Given the description of an element on the screen output the (x, y) to click on. 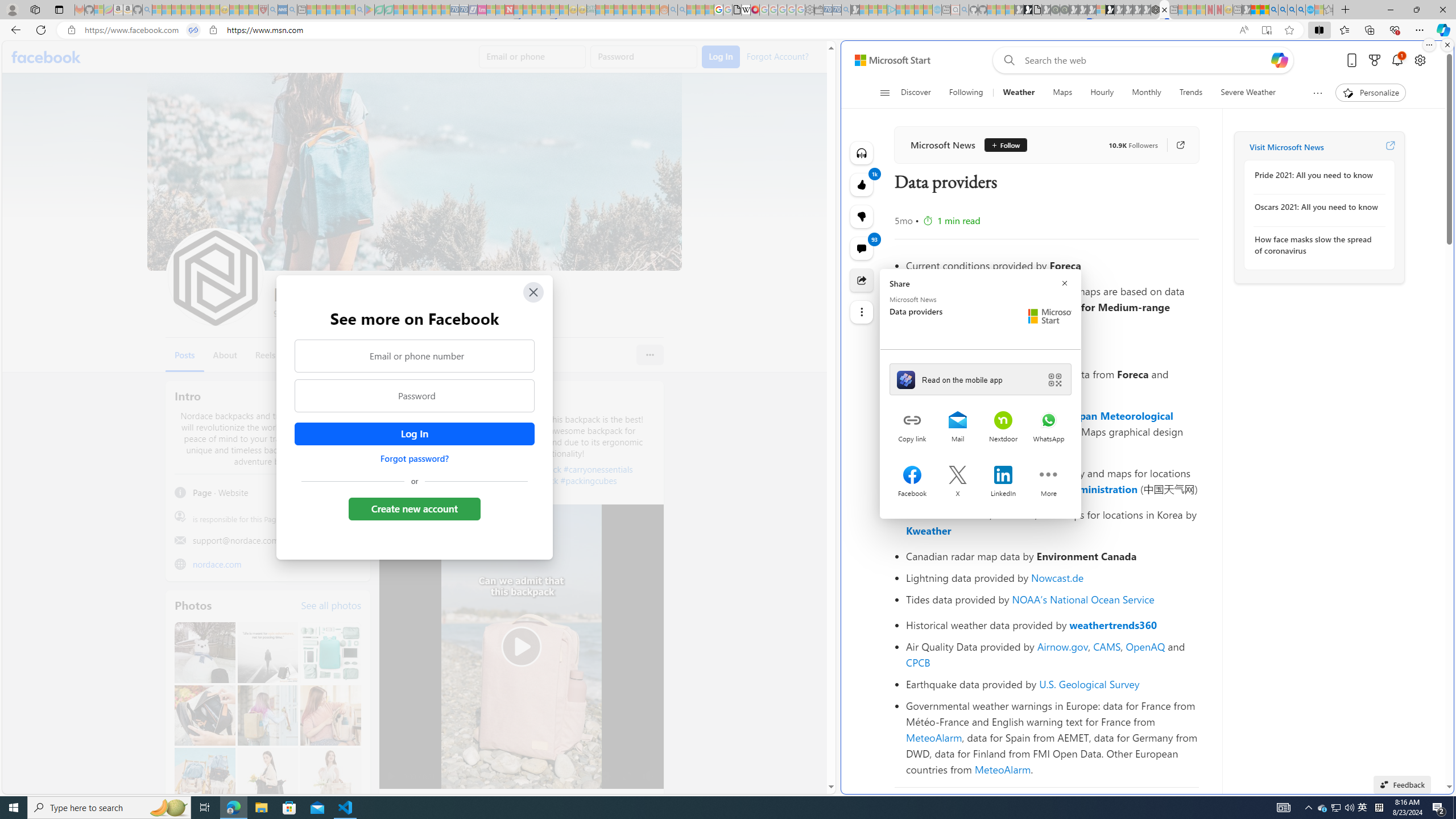
Share via email (957, 421)
MediaWiki (754, 9)
Maps (1062, 92)
Airnow.gov (1062, 646)
Pride 2021: All you need to know (1316, 174)
Severe Weather (1247, 92)
Microsoft Start Logo (1049, 315)
Listen to this article (861, 152)
